Given the description of an element on the screen output the (x, y) to click on. 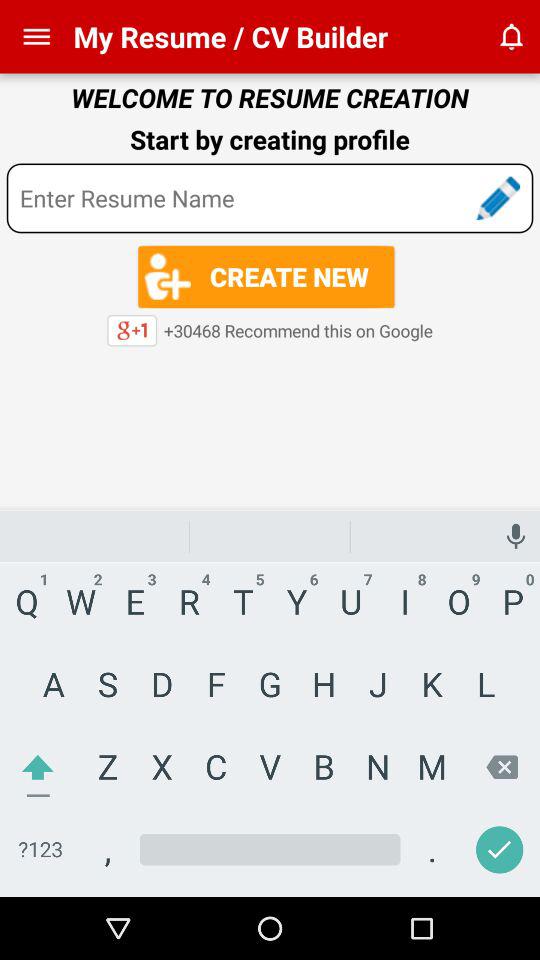
enter words and search (269, 198)
